Given the description of an element on the screen output the (x, y) to click on. 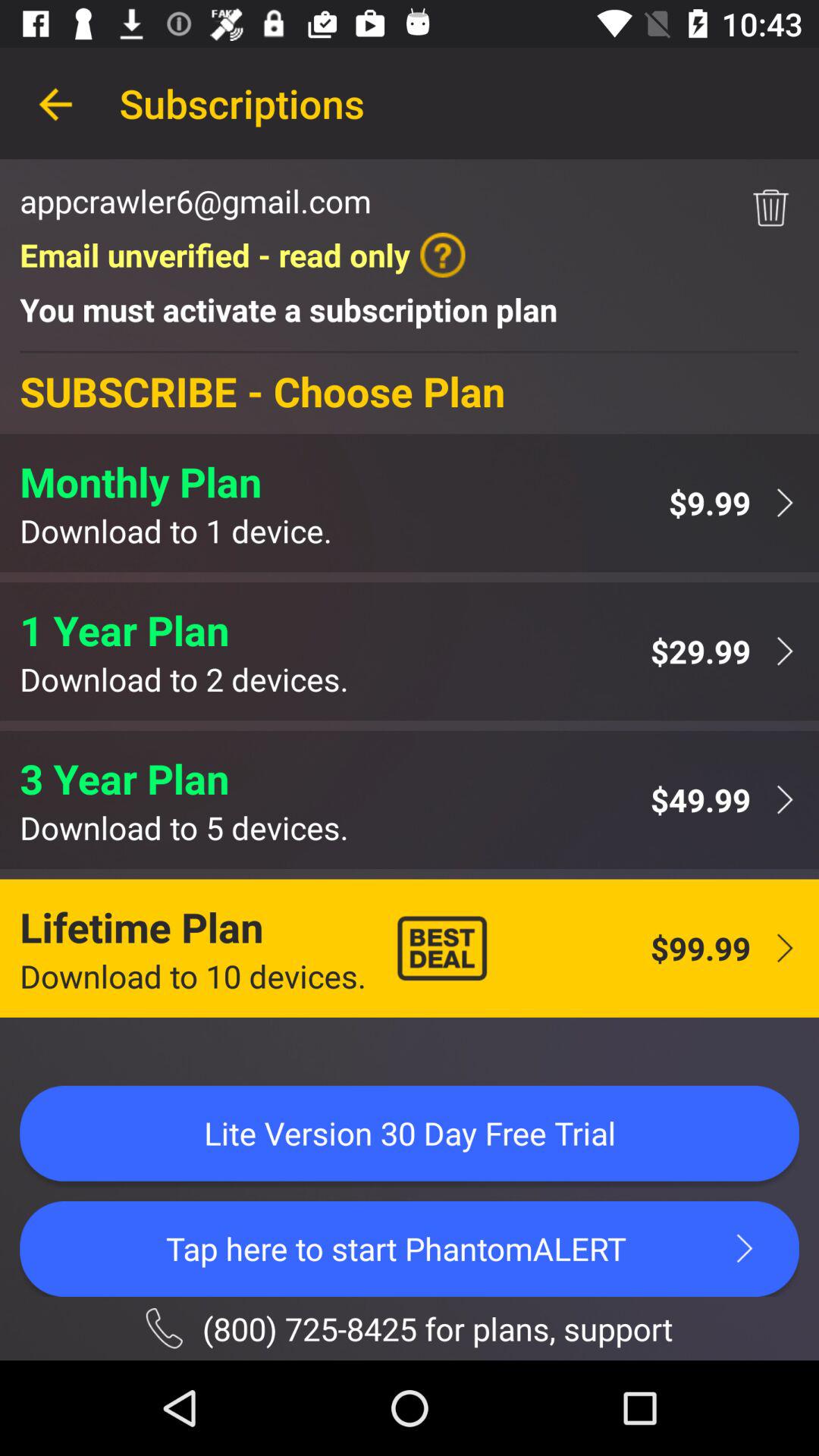
tap item below the appcrawler6@gmail.com icon (242, 254)
